Given the description of an element on the screen output the (x, y) to click on. 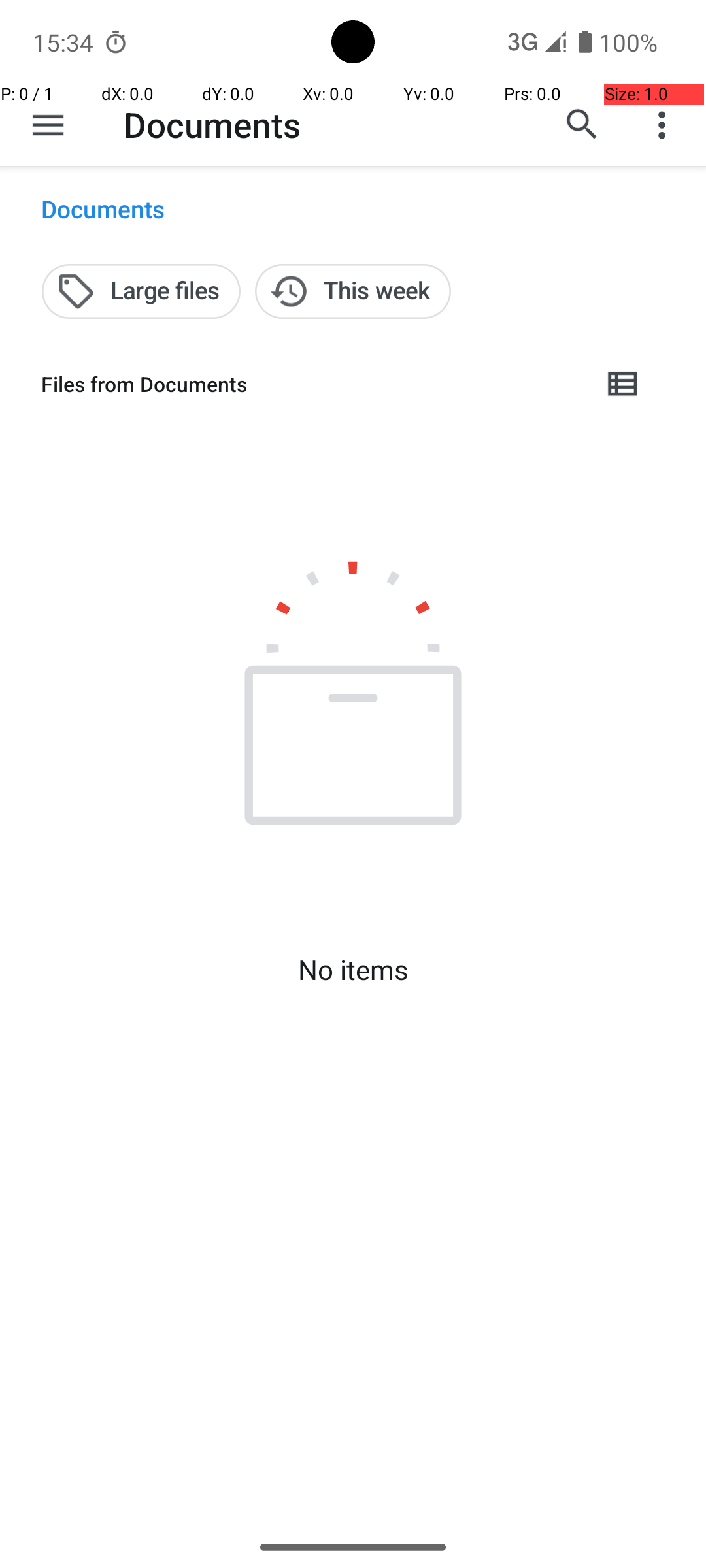
Files from Documents Element type: android.widget.TextView (311, 383)
